Given the description of an element on the screen output the (x, y) to click on. 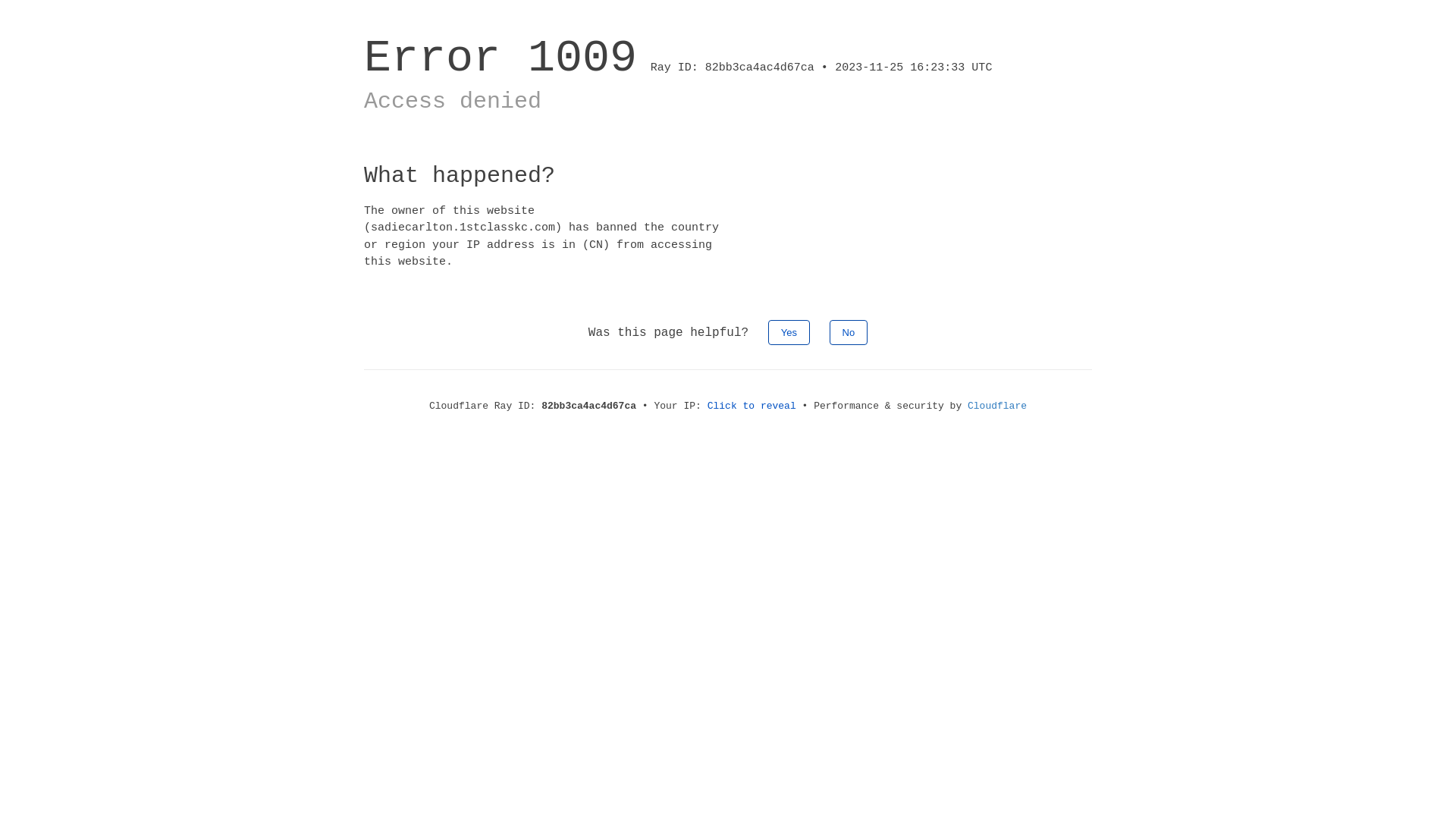
Yes Element type: text (788, 332)
Click to reveal Element type: text (751, 405)
Cloudflare Element type: text (996, 405)
No Element type: text (848, 332)
